Given the description of an element on the screen output the (x, y) to click on. 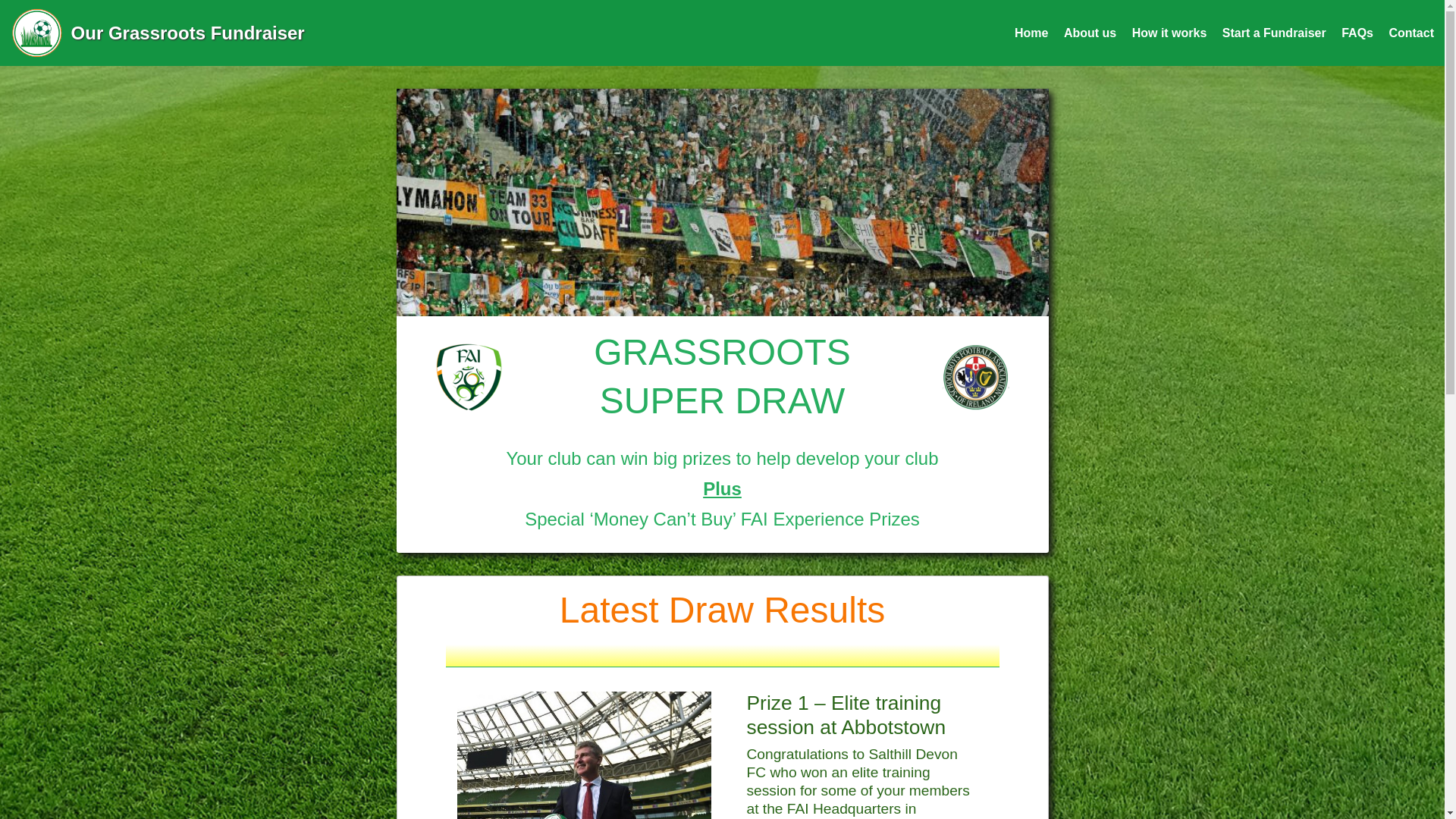
FAQs (1356, 32)
Contact (1411, 32)
Our Grassroots Fundraiser (163, 33)
How it works (1169, 32)
Start a Fundraiser (1274, 32)
About us (1090, 32)
Home (1031, 32)
